Given the description of an element on the screen output the (x, y) to click on. 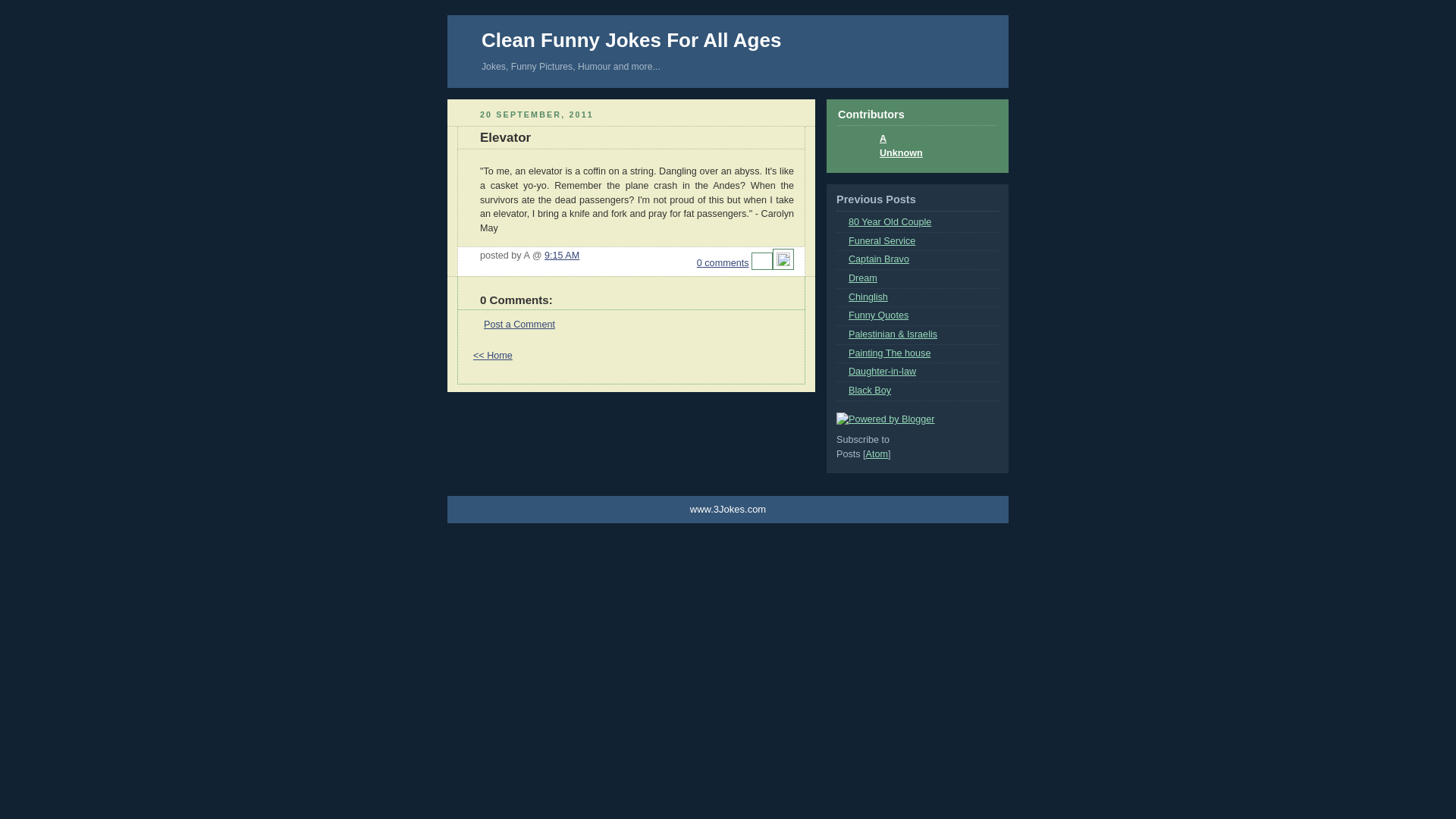
Daughter-in-law Element type: text (882, 371)
Dream Element type: text (862, 278)
Unknown Element type: text (895, 152)
Palestinian & Israelis Element type: text (892, 334)
80 Year Old Couple Element type: text (889, 221)
<< Home Element type: text (492, 355)
Painting The house Element type: text (889, 353)
A Element type: text (877, 138)
Funny Quotes Element type: text (878, 315)
Edit Post Element type: hover (782, 262)
9:15 AM Element type: text (561, 255)
Captain Bravo Element type: text (878, 259)
Funeral Service Element type: text (881, 240)
Email Post Element type: hover (761, 262)
Clean Funny Jokes For All Ages Element type: text (631, 39)
Chinglish Element type: text (868, 296)
Black Boy Element type: text (869, 390)
Atom Element type: text (877, 453)
0 comments Element type: text (717, 262)
Post a Comment Element type: text (514, 324)
